Given the description of an element on the screen output the (x, y) to click on. 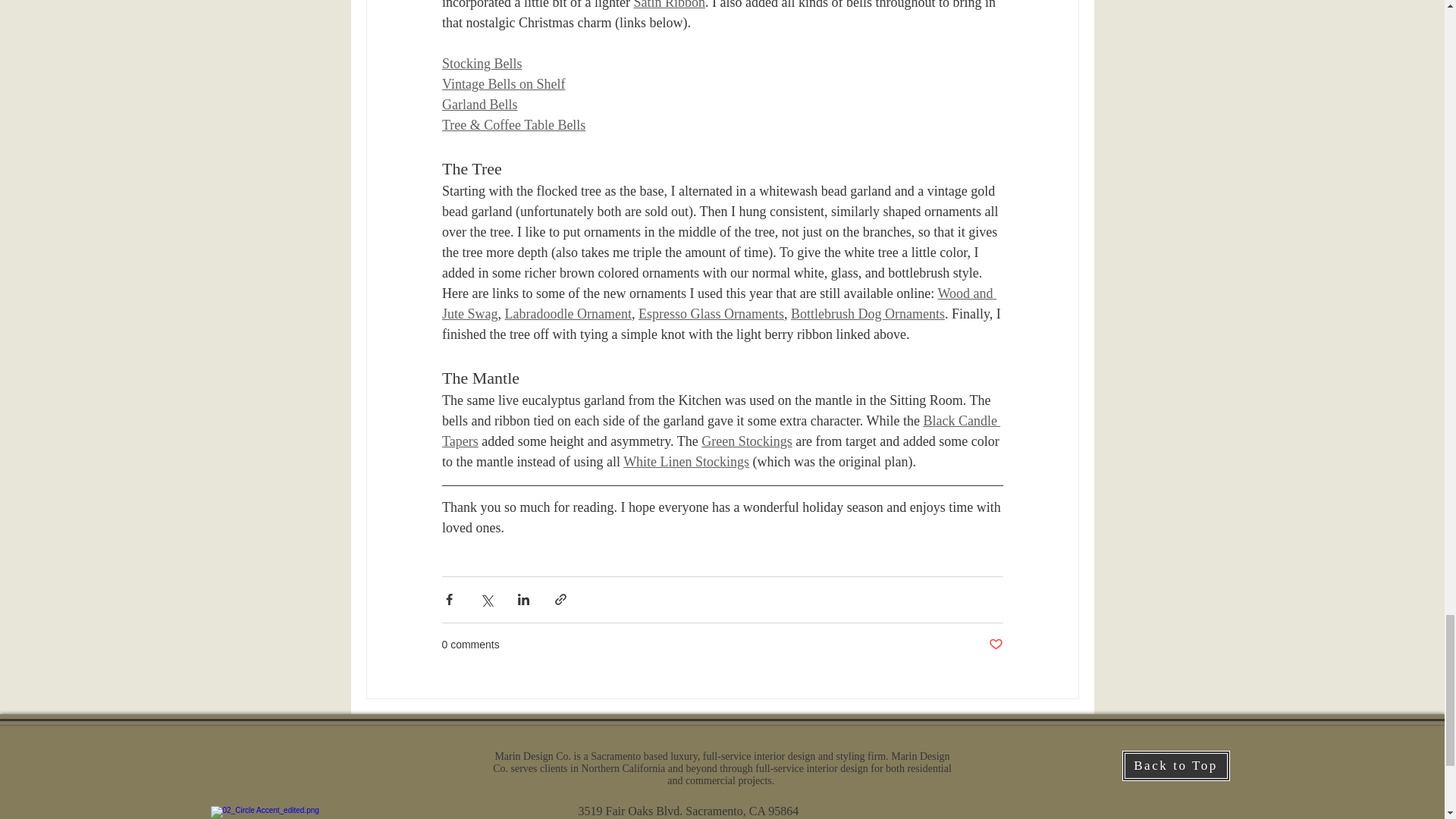
Post not marked as liked (995, 644)
Black Candle Tapers (719, 430)
Vintage Bells on Shelf (502, 83)
Bottlebrush Dog Ornaments (866, 313)
Garland Bells (478, 104)
Stocking Bells (481, 63)
Labradoodle Ornament (566, 313)
Satin Ribbon (668, 4)
White Linen Stockings (686, 461)
Wood and Jute Swag (718, 303)
Espresso Glass Ornaments (710, 313)
Green Stockings (746, 441)
